Given the description of an element on the screen output the (x, y) to click on. 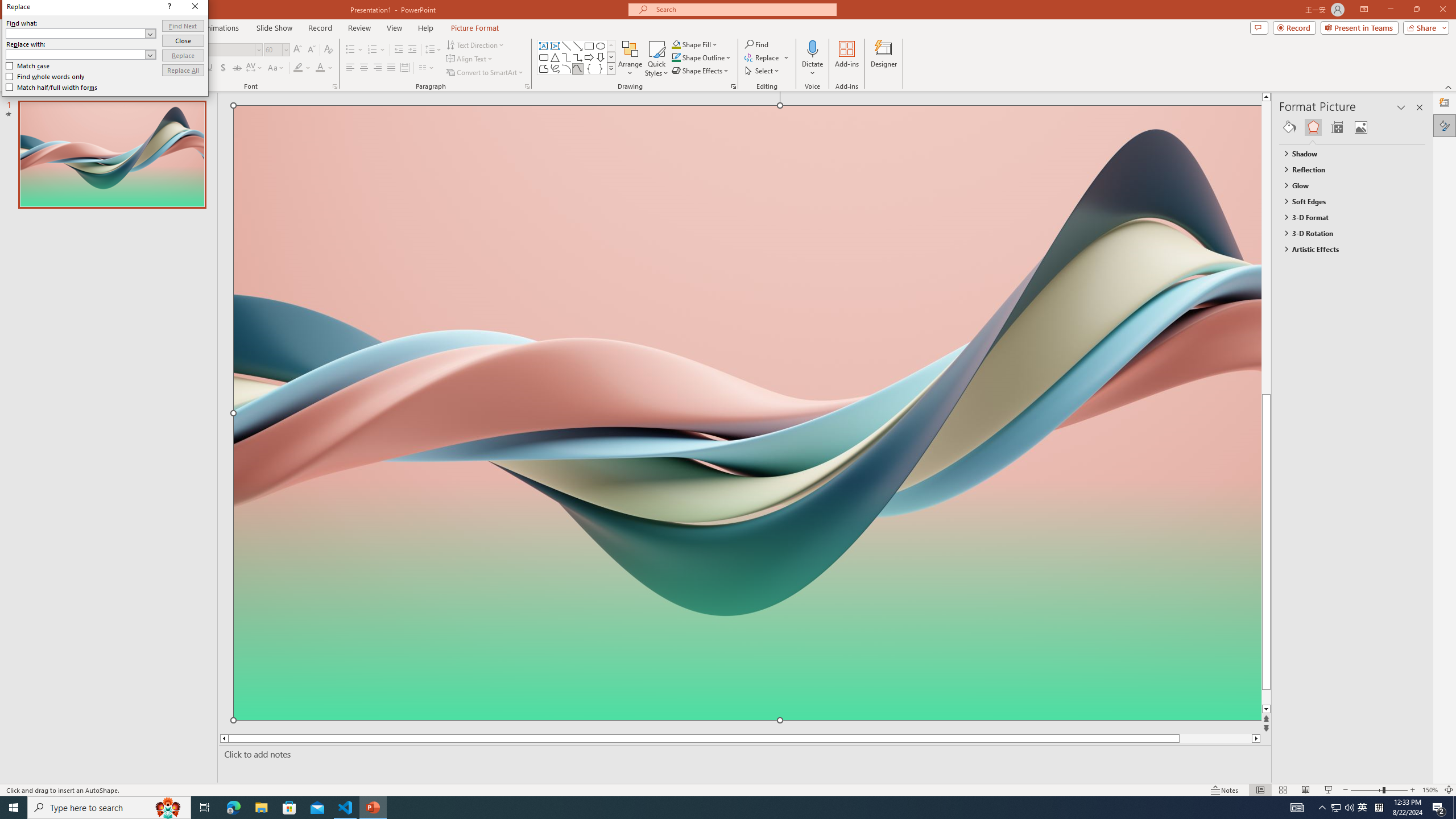
Effects (1313, 126)
Glow (1347, 185)
